Given the description of an element on the screen output the (x, y) to click on. 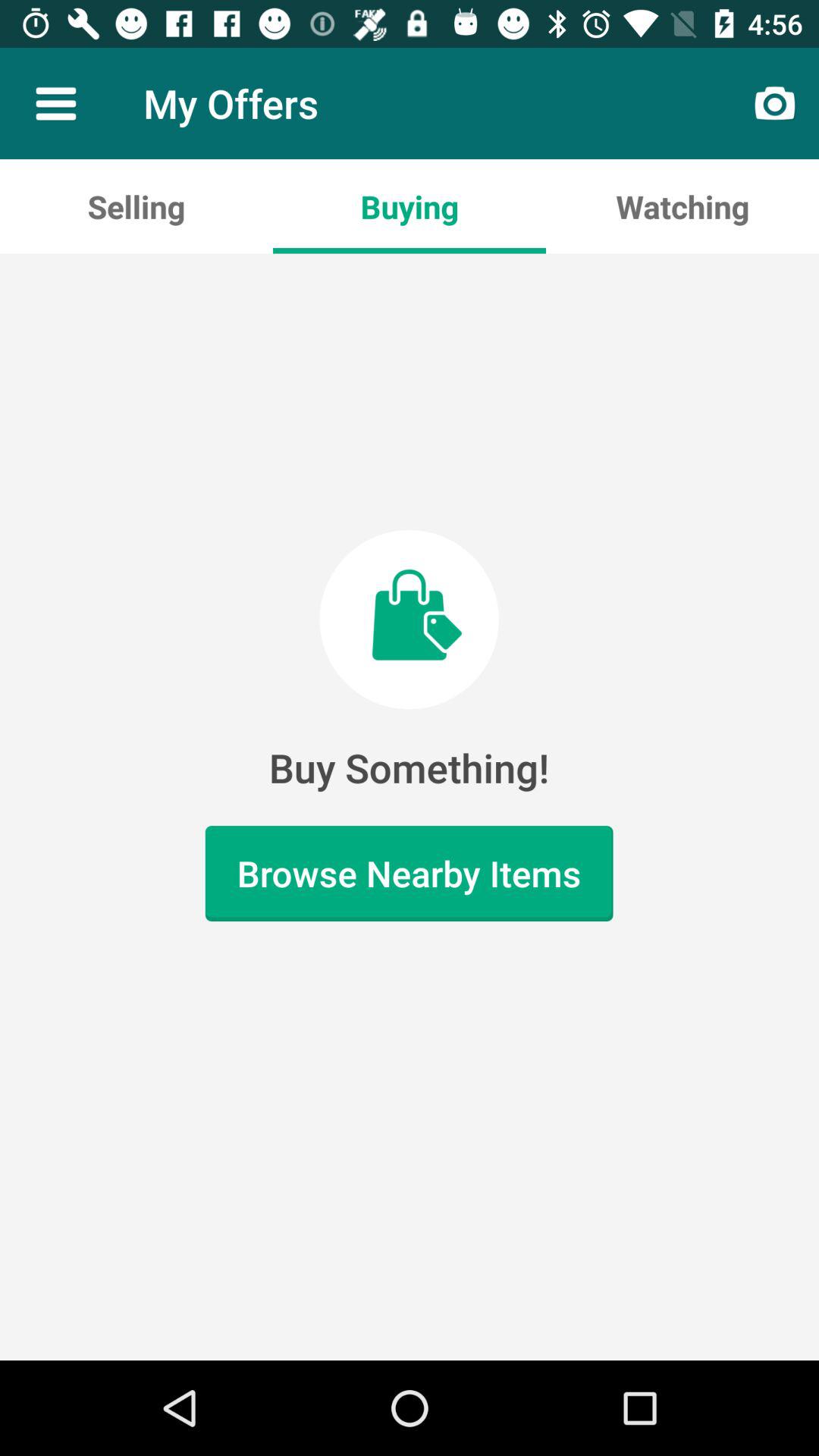
press the browse nearby items item (409, 873)
